Given the description of an element on the screen output the (x, y) to click on. 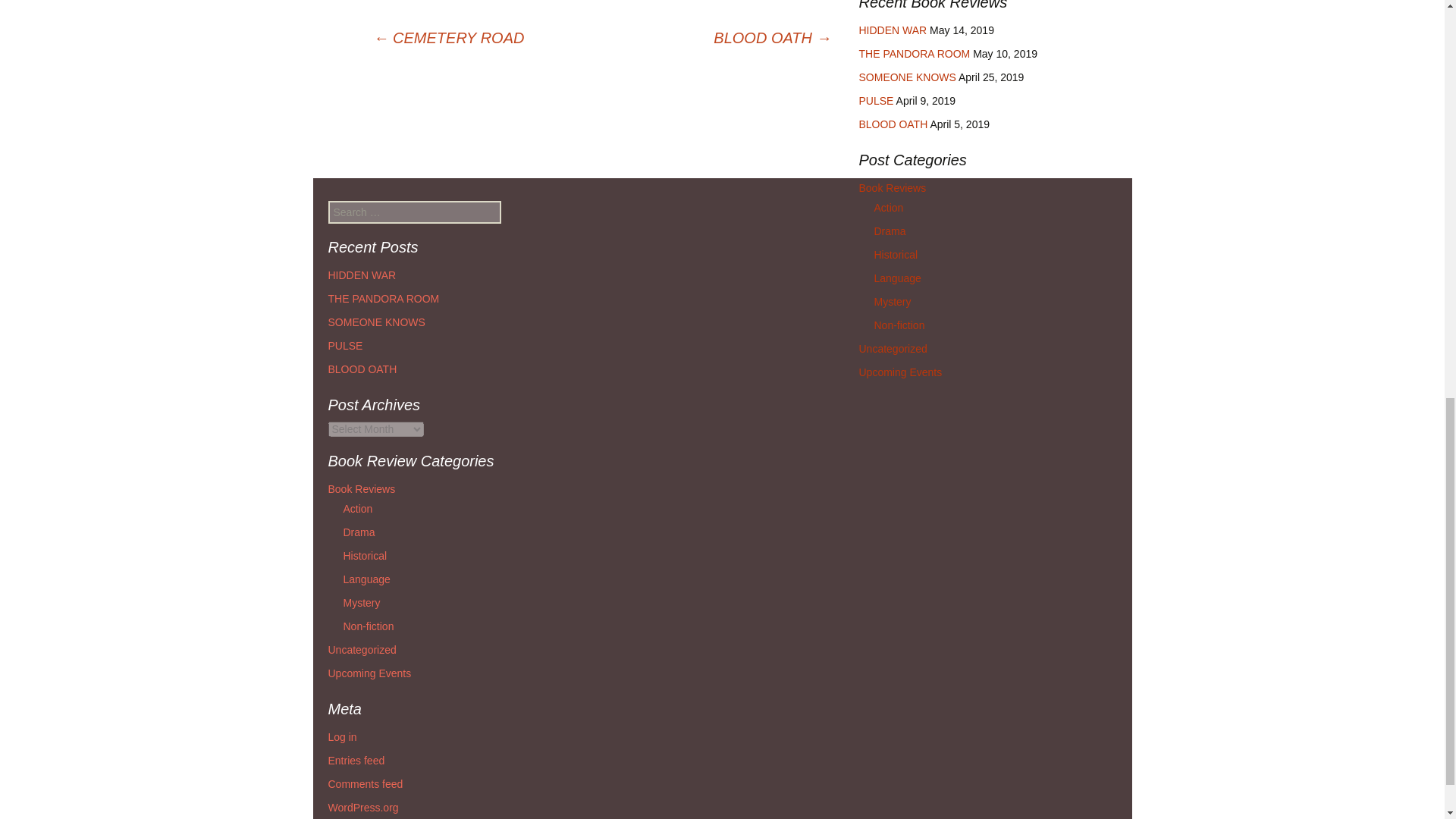
BLOOD OATH (893, 123)
Action (887, 207)
Historical (895, 254)
HIDDEN WAR (892, 30)
Drama (889, 231)
PULSE (876, 101)
Book Reviews (892, 187)
THE PANDORA ROOM (914, 53)
Language (896, 277)
SOMEONE KNOWS (907, 77)
